Given the description of an element on the screen output the (x, y) to click on. 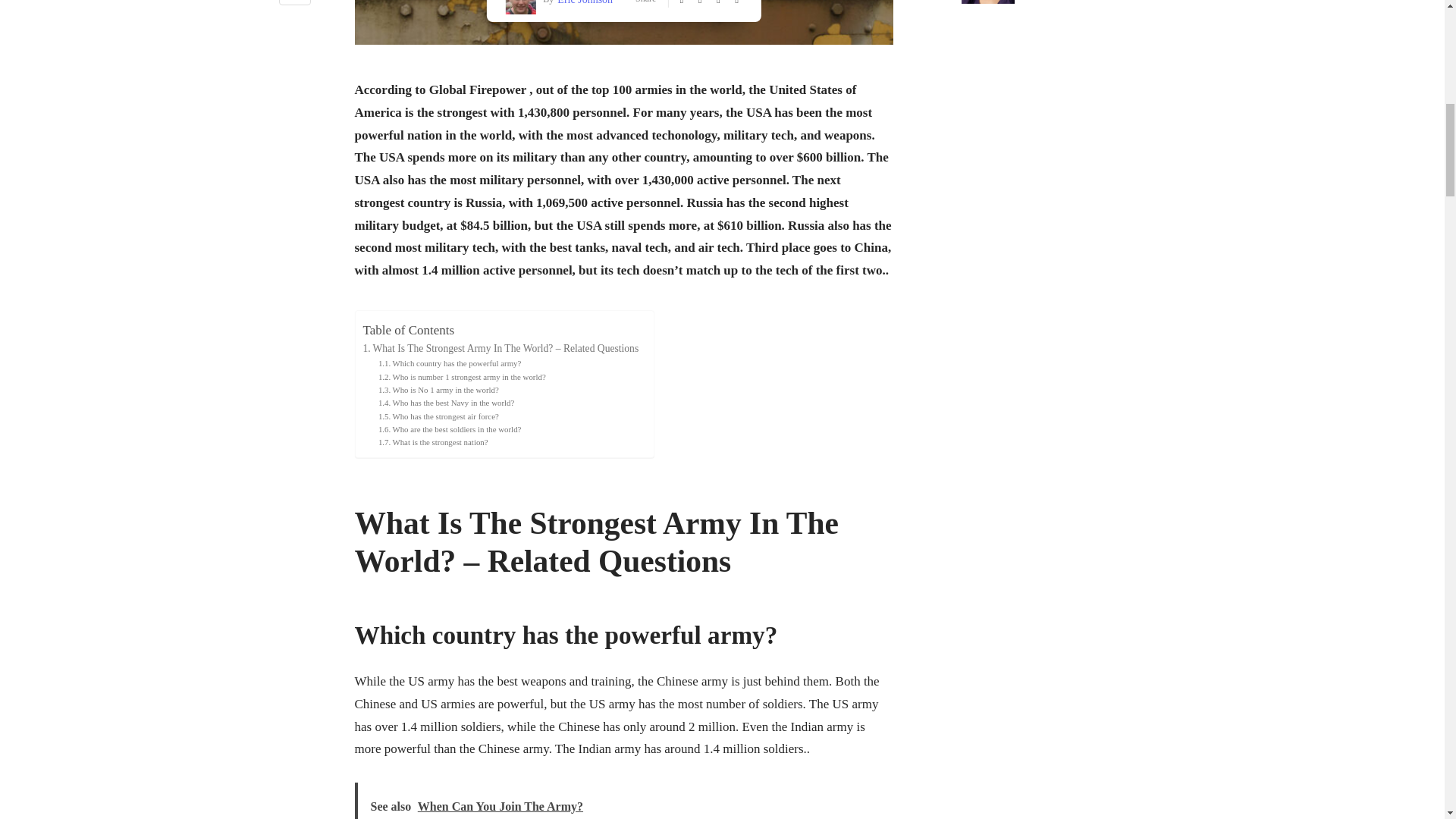
Which country has the powerful army? (449, 363)
Posts by Eric Johnson (582, 3)
Who are the best soldiers in the world? (449, 429)
Who is No 1 army in the world? (438, 390)
Who is number 1 strongest army in the world? (462, 377)
Eric Johnson (582, 3)
Who has the strongest air force? (438, 416)
See also  When Can You Join The Army? (624, 800)
Who has the best Navy in the world? (445, 402)
What is the strongest nation? (432, 441)
Share on Linkedin (295, 4)
